Given the description of an element on the screen output the (x, y) to click on. 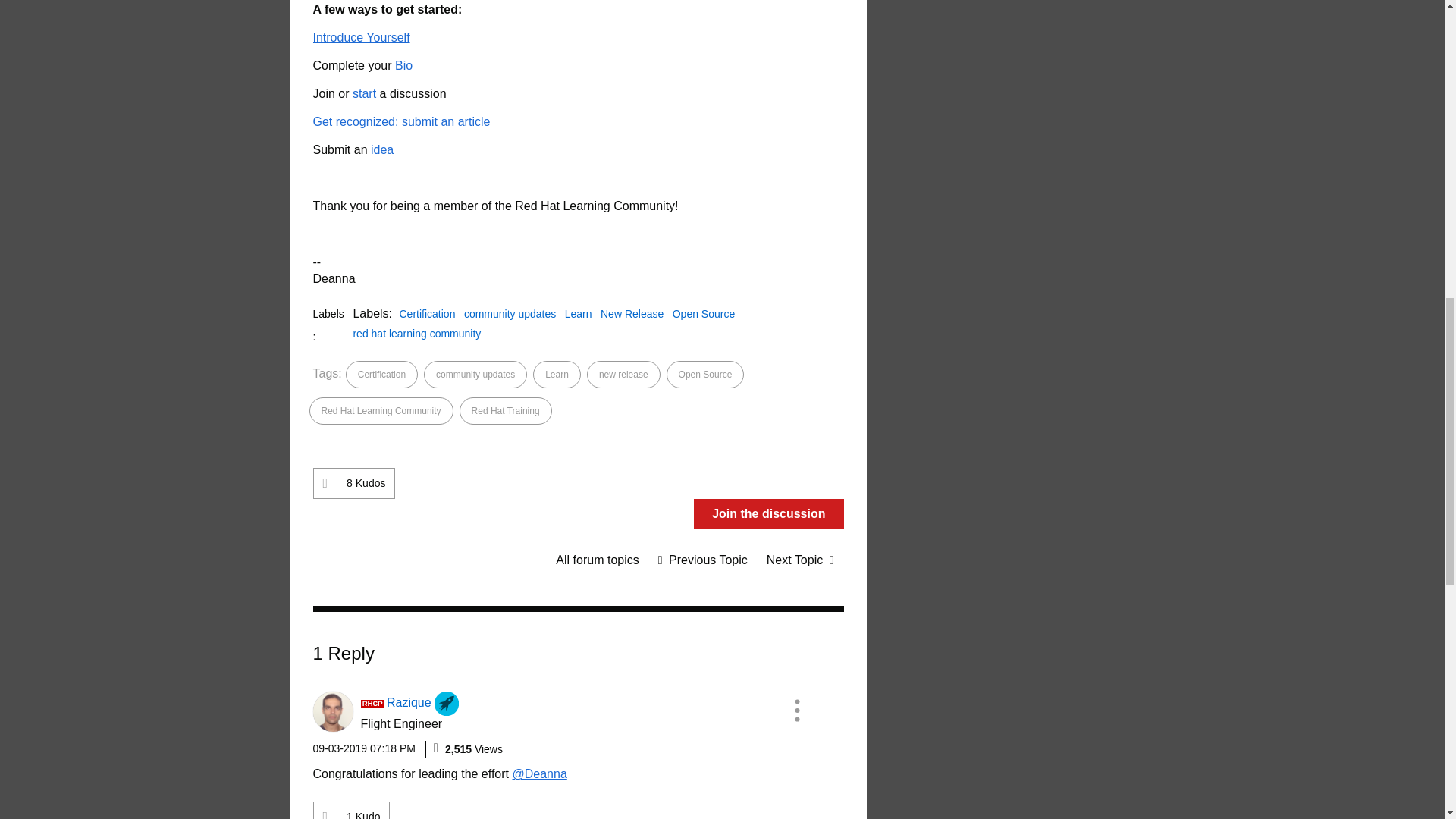
Click here to see who gave kudos to this post. (365, 482)
